Given the description of an element on the screen output the (x, y) to click on. 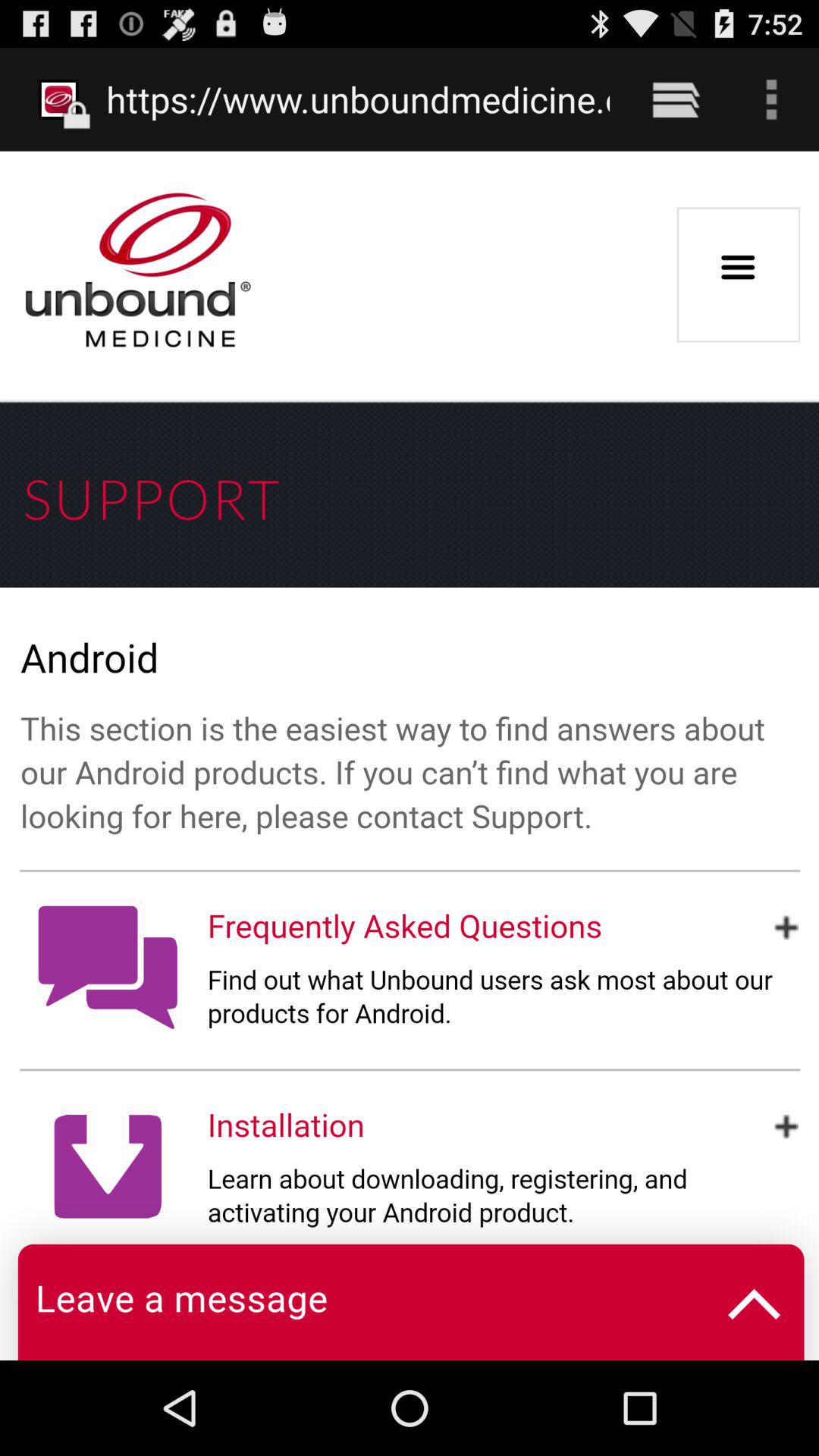
select the item at the top (357, 99)
